Given the description of an element on the screen output the (x, y) to click on. 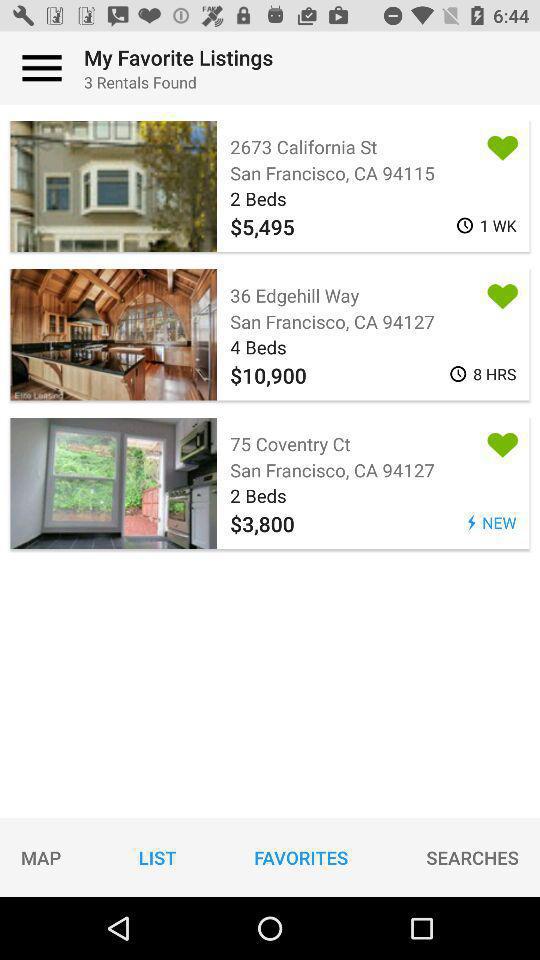
choose icon to the left of searches item (301, 857)
